Given the description of an element on the screen output the (x, y) to click on. 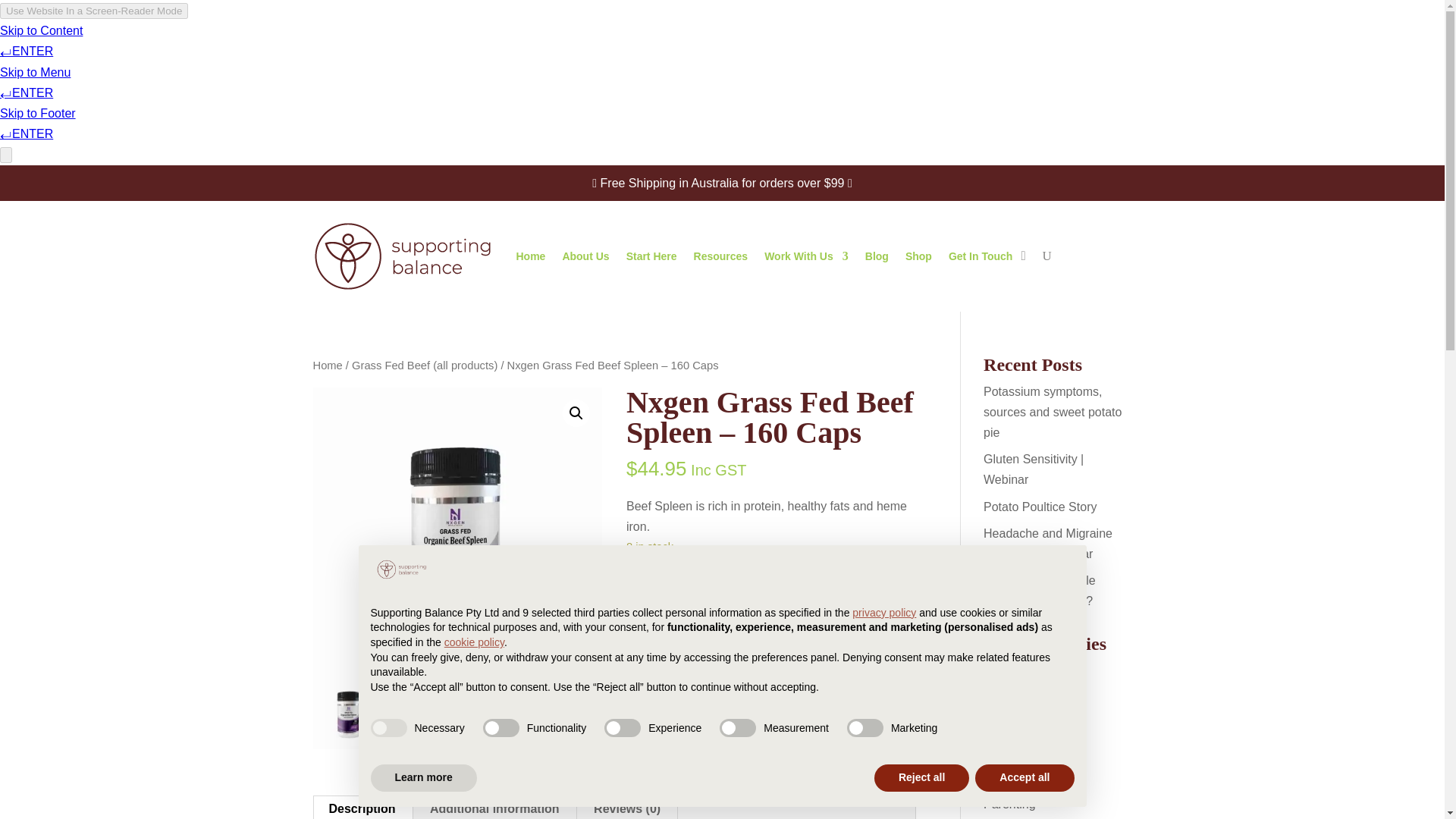
Complementary to RCP (738, 740)
false (865, 728)
false (737, 728)
1 (648, 596)
nxgen (710, 761)
Beef-Spleen-Capsules-1 (457, 532)
false (622, 728)
Additional information (494, 807)
Work With Us (806, 256)
Description (362, 807)
PayPal (770, 699)
Home (327, 365)
Add to cart (740, 599)
false (501, 728)
true (387, 728)
